Given the description of an element on the screen output the (x, y) to click on. 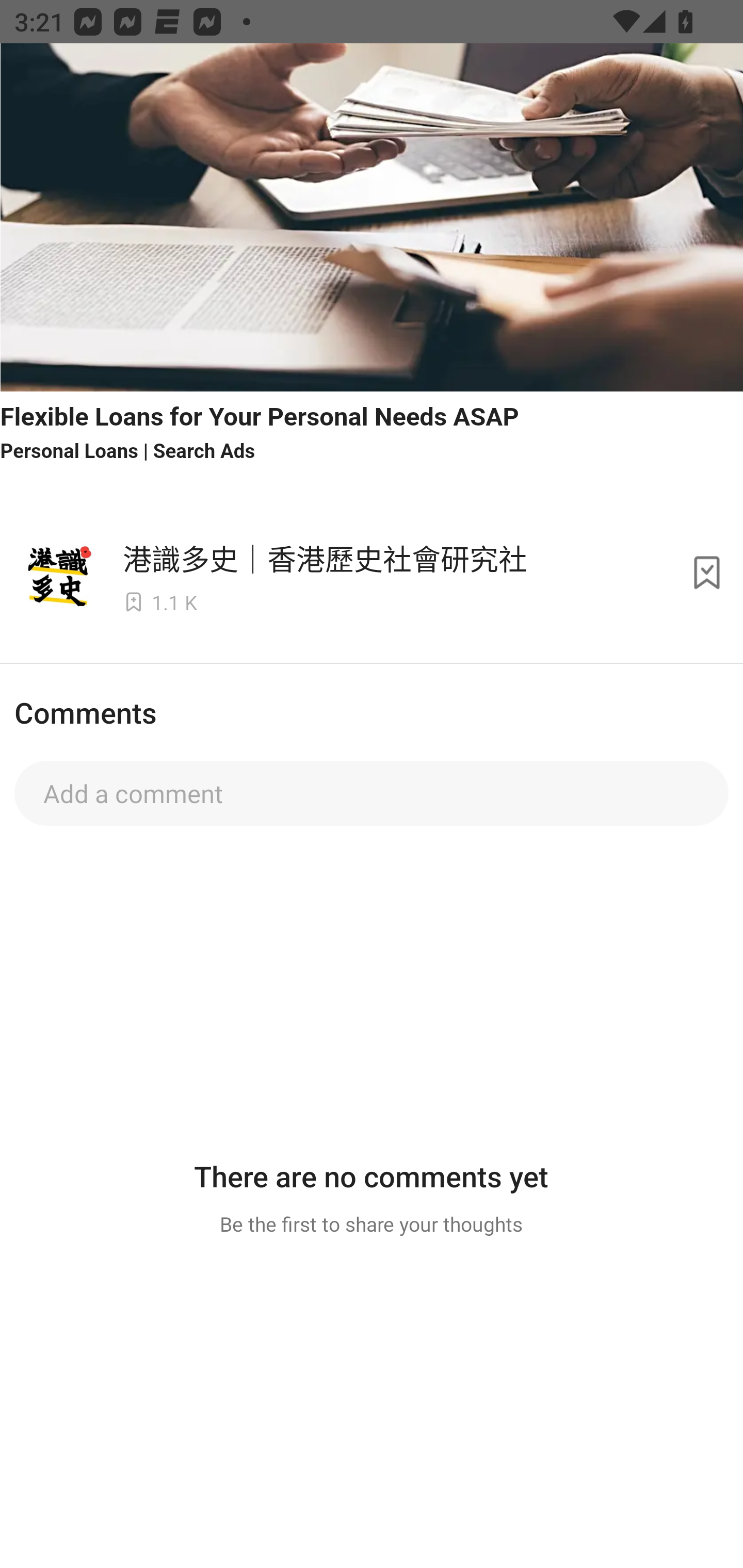
港識多史｜香港歷史社會研究社  1.1 K Subscribe (371, 572)
Subscribe (706, 572)
Add a comment (371, 793)
